Given the description of an element on the screen output the (x, y) to click on. 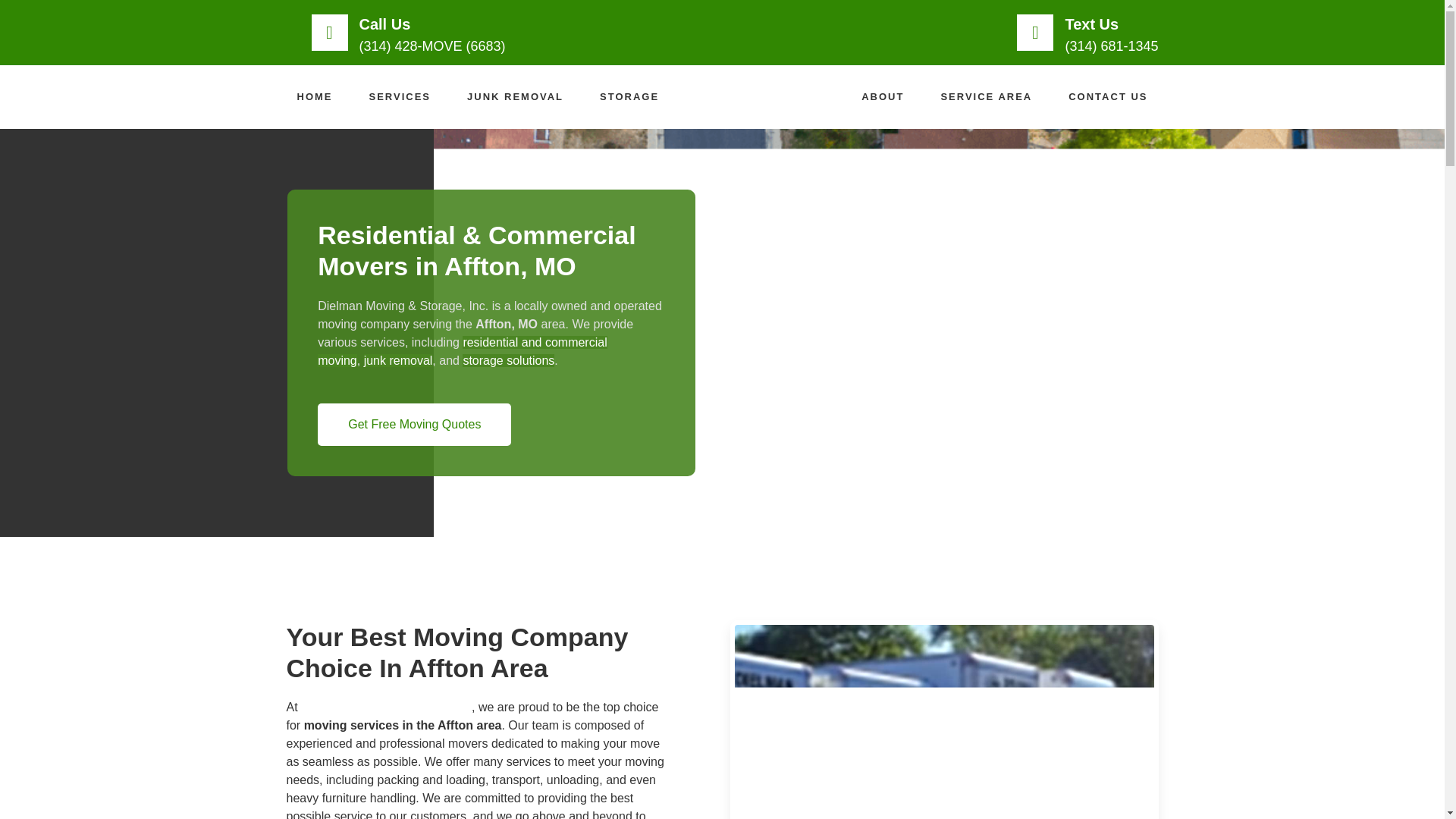
Call Us (384, 23)
Text Us (1091, 23)
Affton, MO 1 (943, 719)
